Given the description of an element on the screen output the (x, y) to click on. 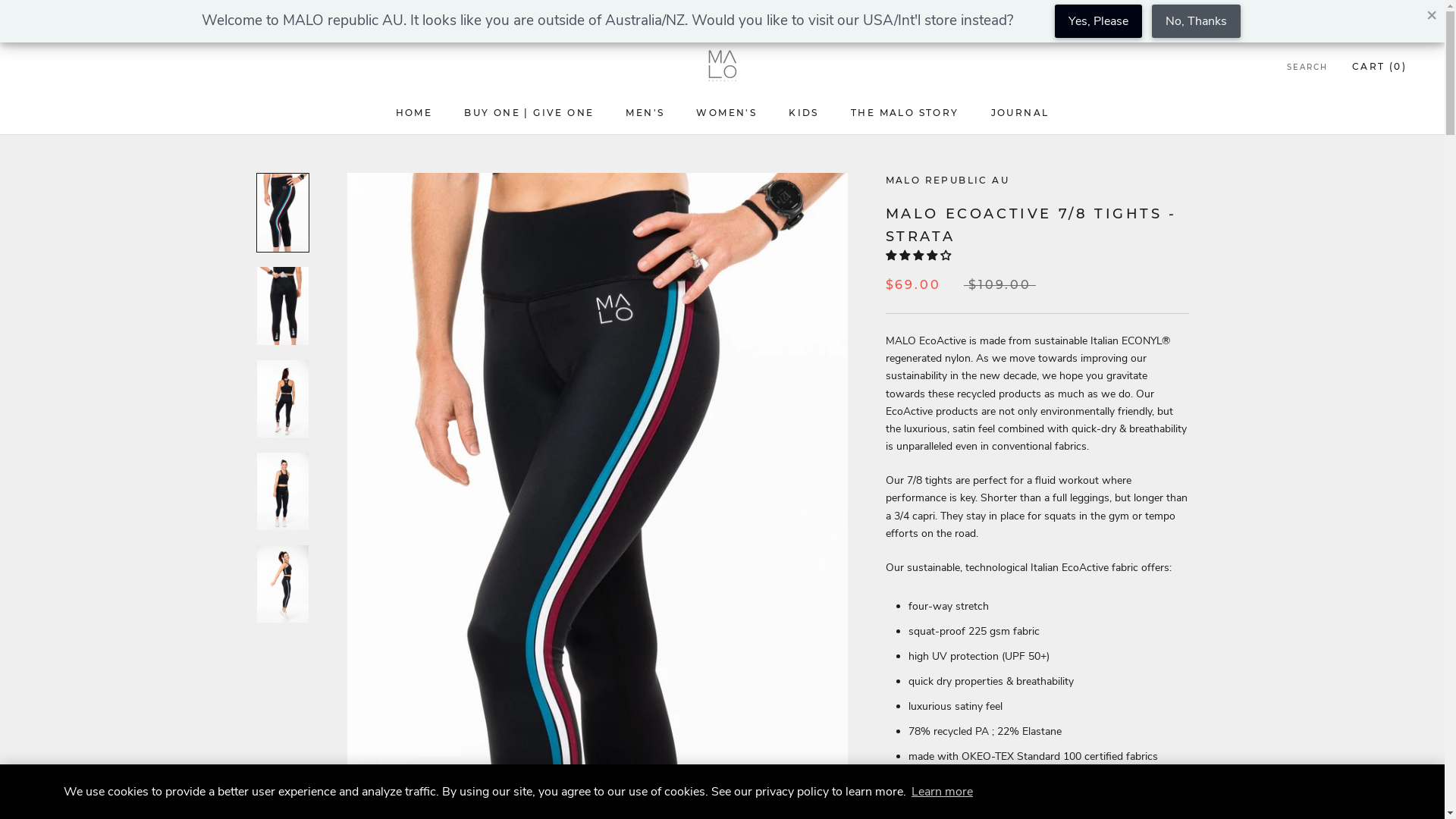
MEN'S Element type: text (644, 112)
Yes, Please Element type: text (1097, 20)
THE MALO STORY
THE MALO STORY Element type: text (904, 112)
WOMEN'S Element type: text (726, 112)
Continue Element type: text (1372, 791)
JOURNAL
JOURNAL Element type: text (1020, 112)
Learn more Element type: text (942, 791)
KIDS Element type: text (803, 112)
HOME
HOME Element type: text (414, 112)
CART (0) Element type: text (1379, 66)
SEARCH Element type: text (1306, 67)
BUY ONE | GIVE ONE
BUY ONE | GIVE ONE Element type: text (528, 112)
